Given the description of an element on the screen output the (x, y) to click on. 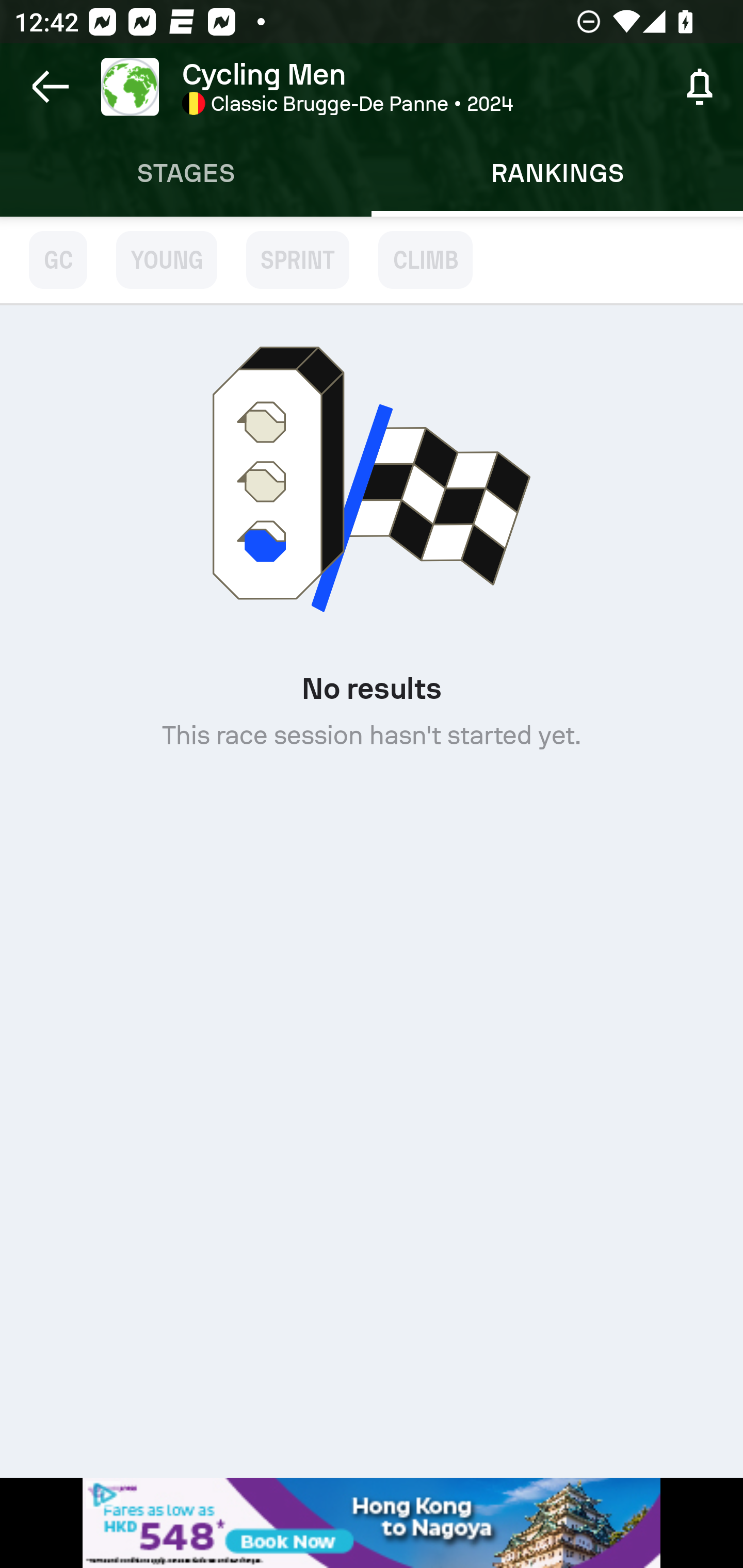
Navigate up (50, 86)
Stages STAGES (185, 173)
wi46309w_320x50 (371, 1522)
